Given the description of an element on the screen output the (x, y) to click on. 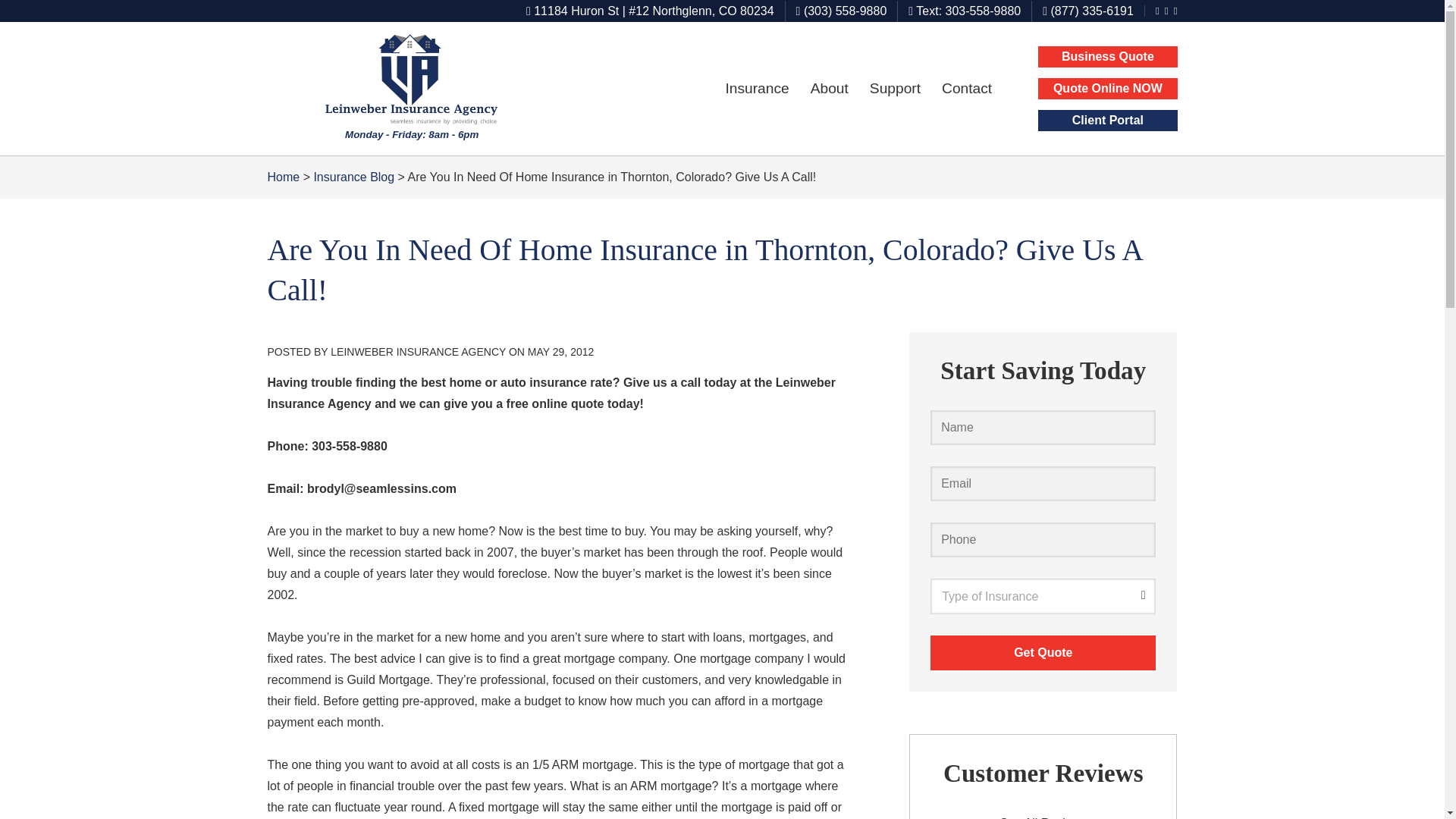
About (829, 88)
Insurance (756, 88)
Leinweber (411, 79)
Home Page (411, 88)
Support (895, 88)
Get Quote (1043, 652)
